Given the description of an element on the screen output the (x, y) to click on. 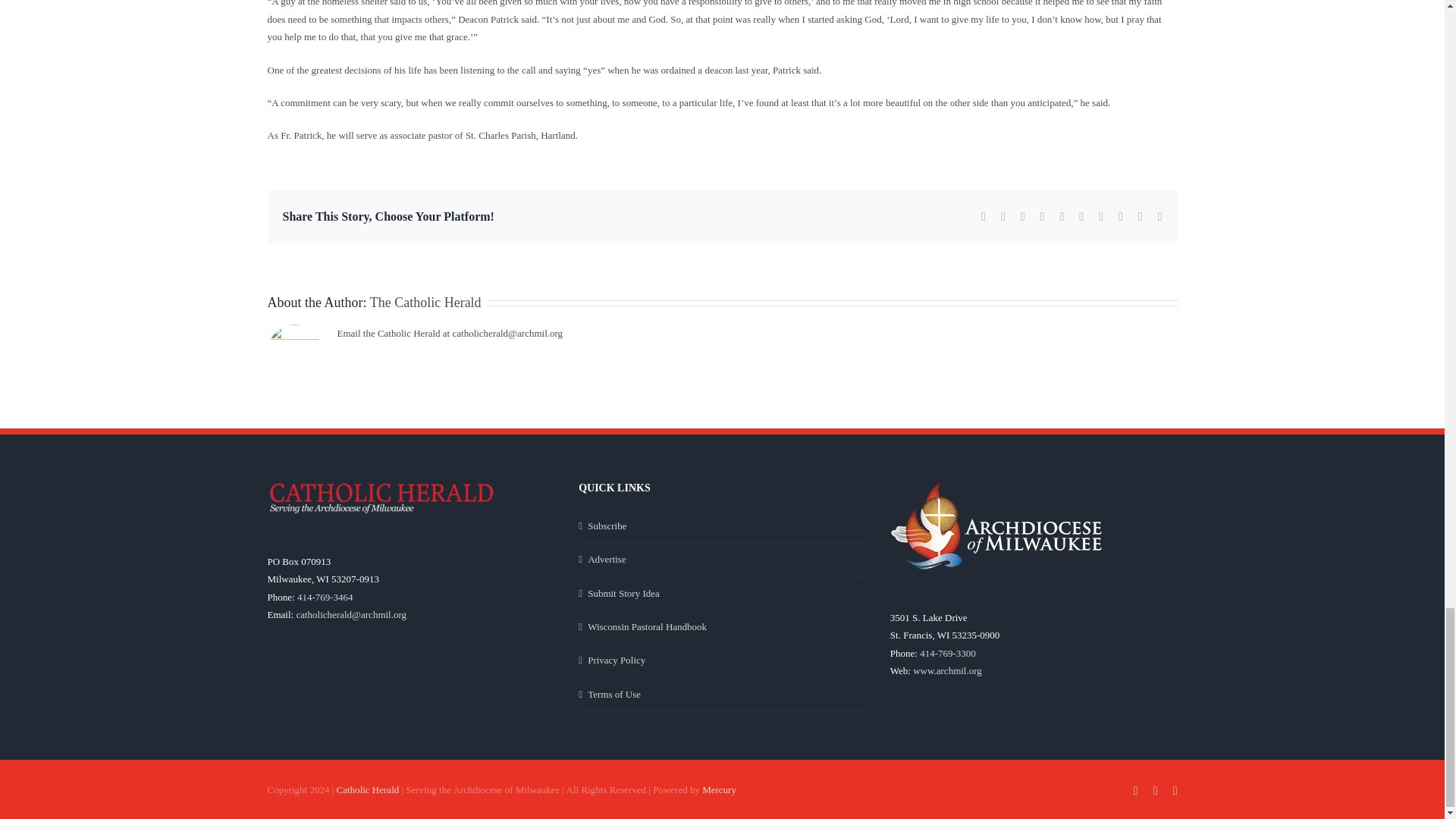
Posts by The Catholic Herald (425, 302)
